Given the description of an element on the screen output the (x, y) to click on. 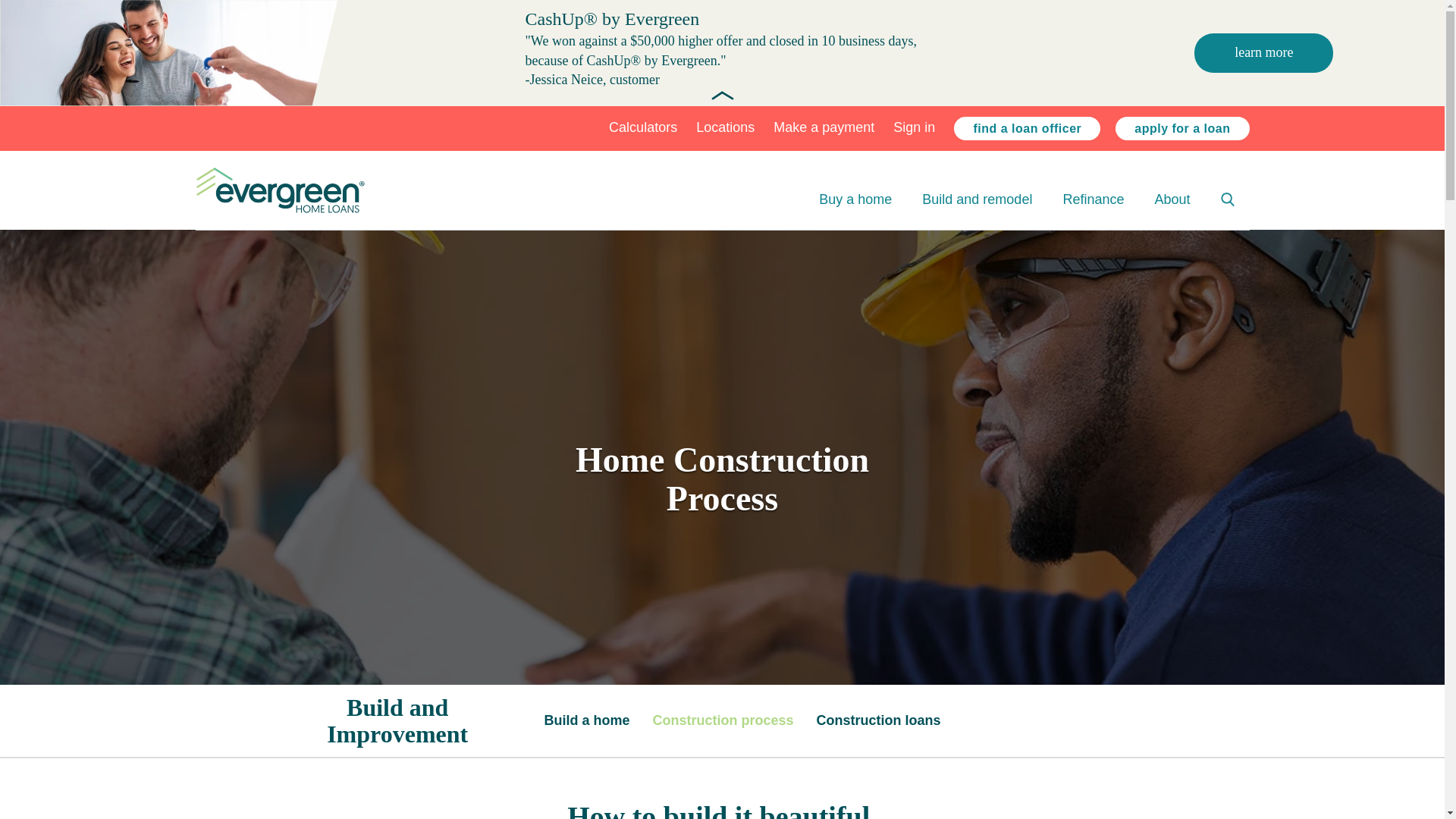
learn more (1263, 52)
find a loan officer (1026, 128)
apply for a loan (1182, 128)
learn more (1263, 52)
Calculators (642, 127)
Buy a home (855, 199)
Build and remodel (976, 199)
Make a payment (824, 127)
Sign in (913, 127)
Locations (724, 127)
